Given the description of an element on the screen output the (x, y) to click on. 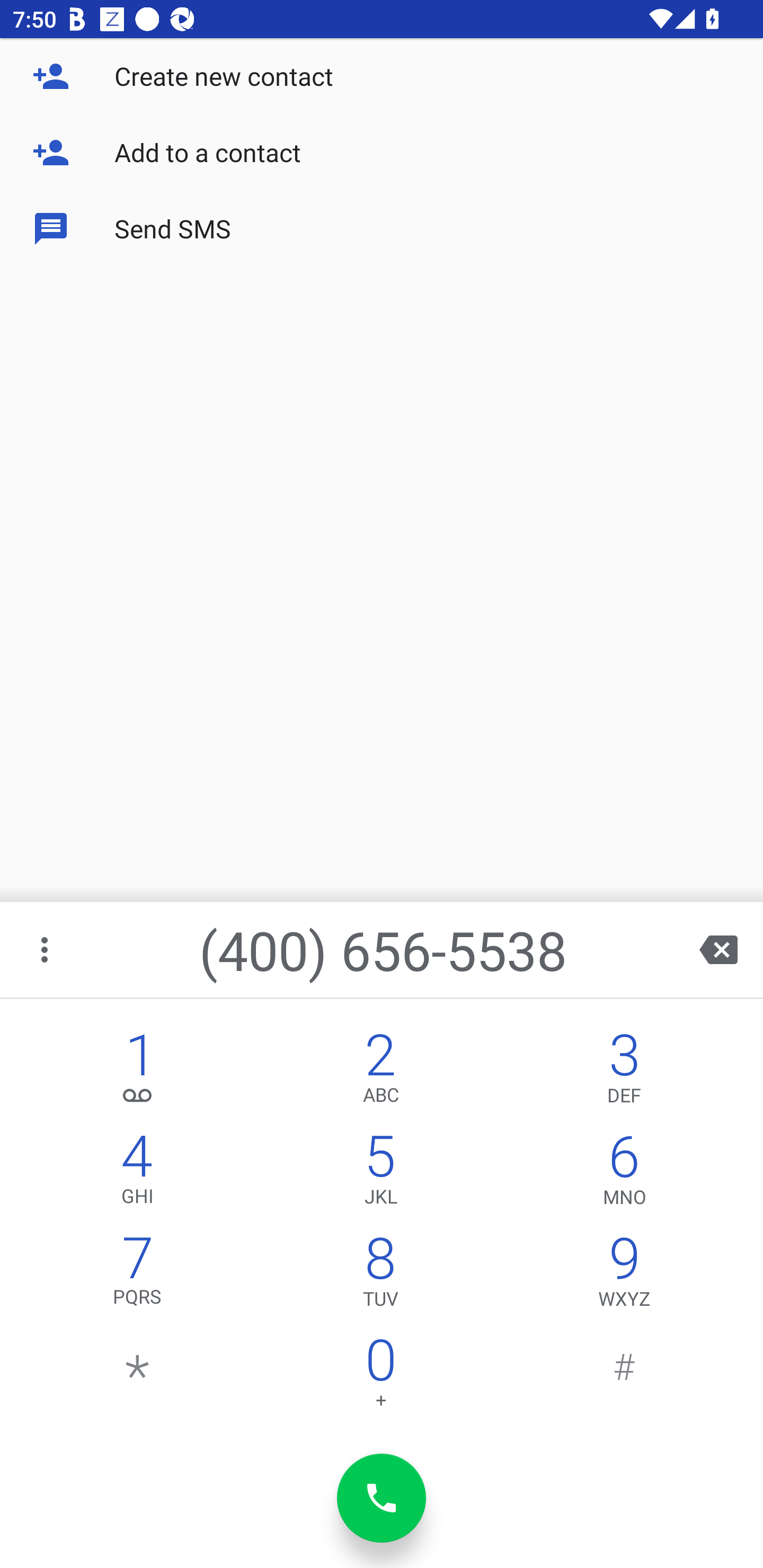
Create new contact (381, 75)
Add to a contact (381, 152)
Send SMS (381, 228)
(400) 656-5538 (382, 949)
backspace (718, 949)
More options (45, 949)
1, 1 (137, 1071)
2,ABC 2 ABC (380, 1071)
3,DEF 3 DEF (624, 1071)
4,GHI 4 GHI (137, 1173)
5,JKL 5 JKL (380, 1173)
6,MNO 6 MNO (624, 1173)
7,PQRS 7 PQRS (137, 1275)
8,TUV 8 TUV (380, 1275)
9,WXYZ 9 WXYZ (624, 1275)
* (137, 1377)
0 0 + (380, 1377)
# (624, 1377)
dial (381, 1497)
